Given the description of an element on the screen output the (x, y) to click on. 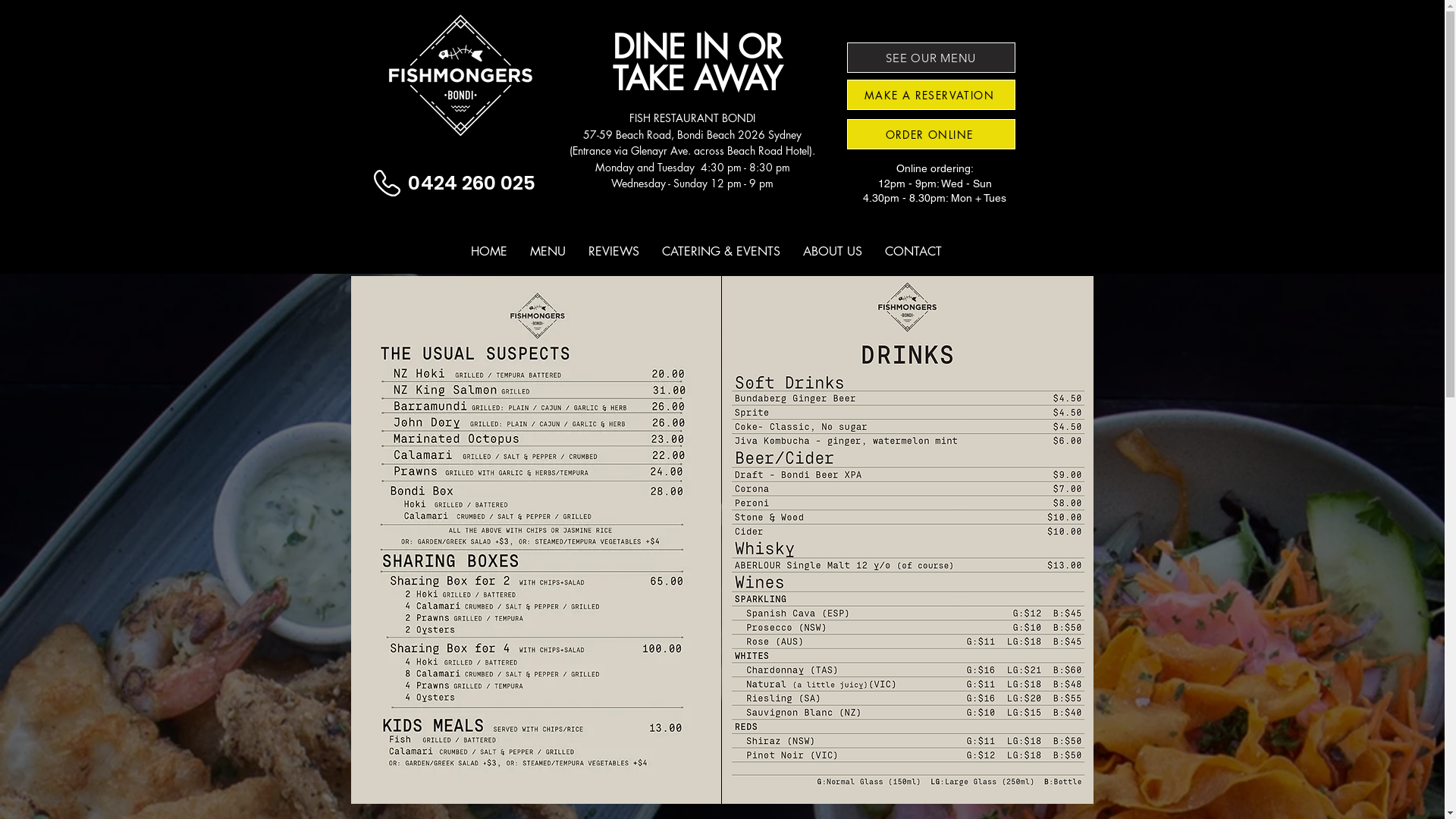
CATERING & EVENTS Element type: text (720, 251)
MAKE A RESERVATION Element type: text (930, 94)
ORDER ONLINE Element type: text (930, 134)
ABOUT US Element type: text (832, 251)
MENU Element type: text (547, 251)
HOME Element type: text (488, 251)
SEE OUR MENU Element type: text (930, 57)
REVIEWS Element type: text (612, 251)
CONTACT Element type: text (913, 251)
